Given the description of an element on the screen output the (x, y) to click on. 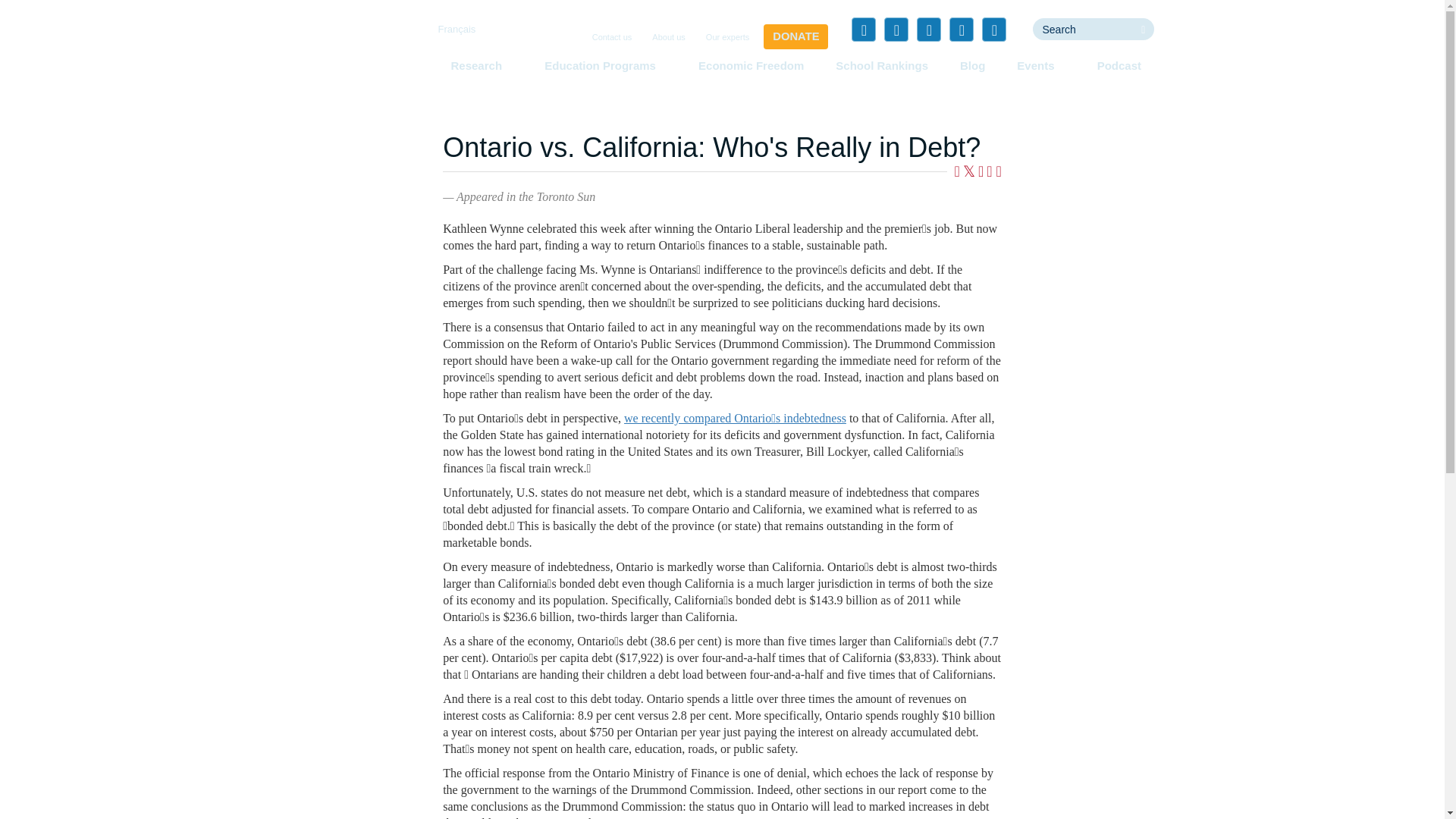
Home (352, 56)
Our experts (727, 37)
Enter the terms you wish to search for. (1082, 29)
Facebook (863, 29)
Contact us (612, 37)
About us (668, 37)
LinkedIn (928, 29)
Instagram (993, 29)
Twitter (895, 29)
